Given the description of an element on the screen output the (x, y) to click on. 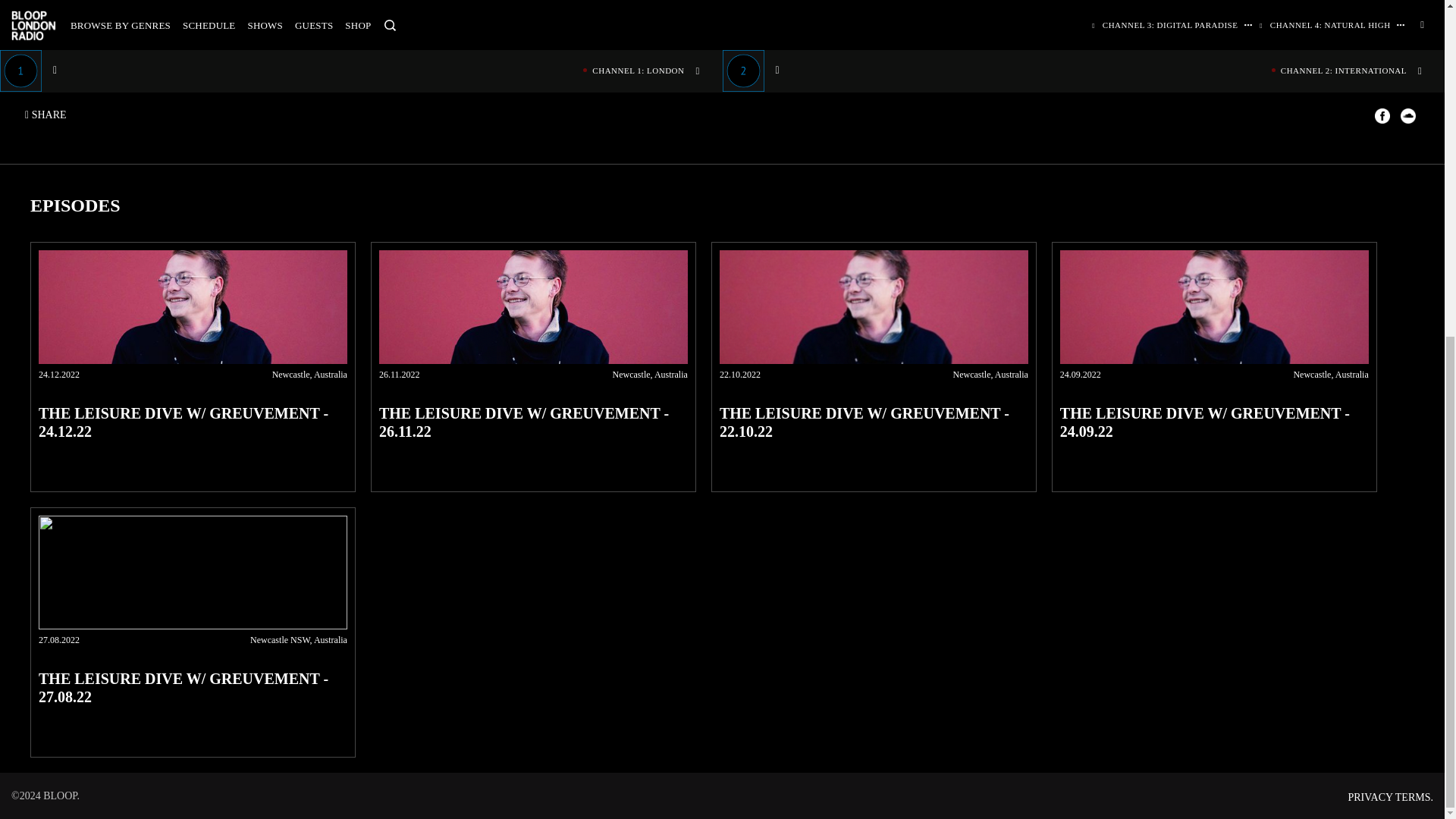
SHARE (48, 115)
PRIVACY TERMS. (1390, 797)
SoundCloud (51, 9)
Facebook (106, 9)
Beatport (153, 9)
